Given the description of an element on the screen output the (x, y) to click on. 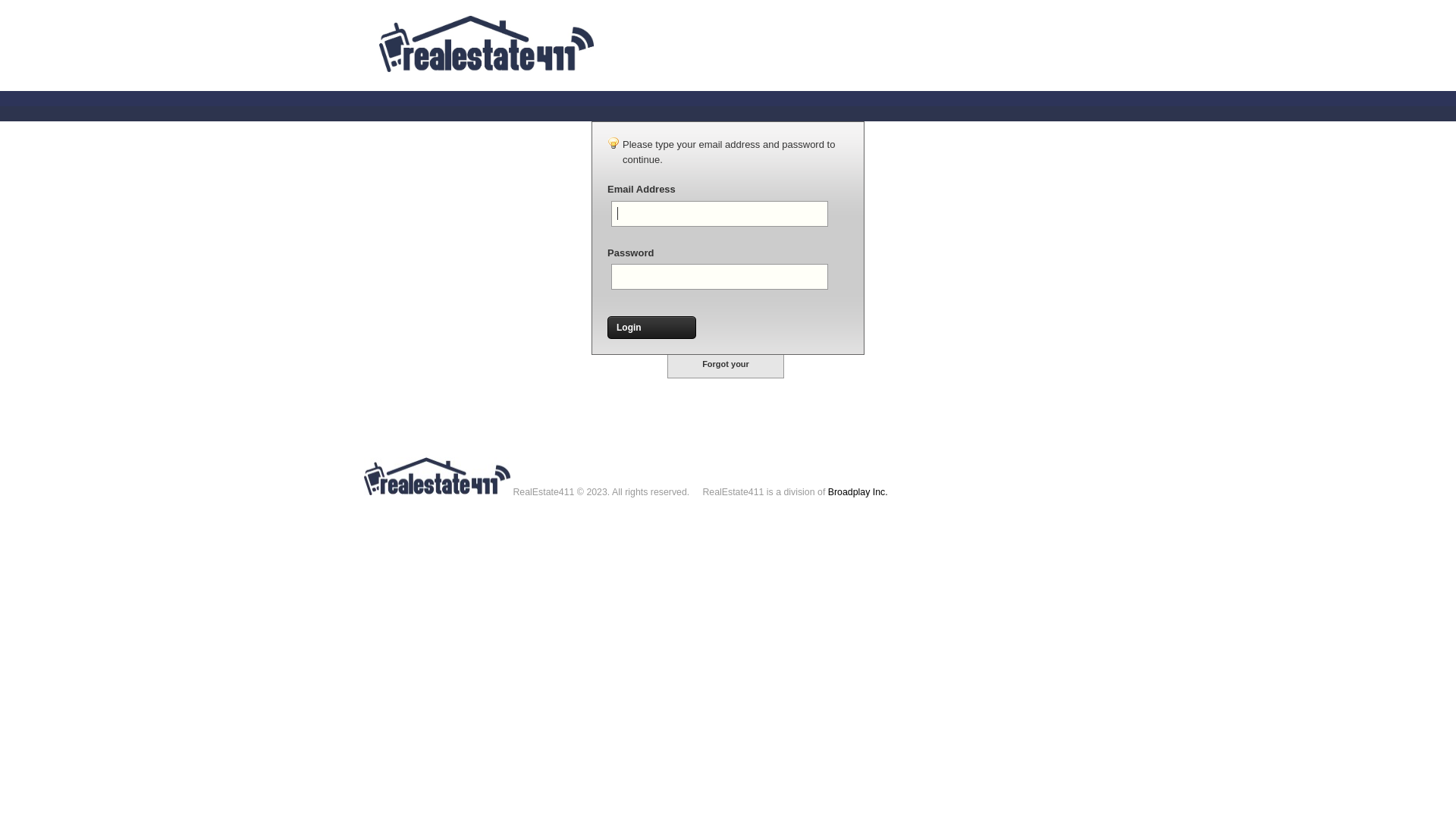
Forgot your password? Element type: text (725, 366)
Login Element type: text (651, 327)
Broadplay Inc. Element type: text (858, 491)
